Given the description of an element on the screen output the (x, y) to click on. 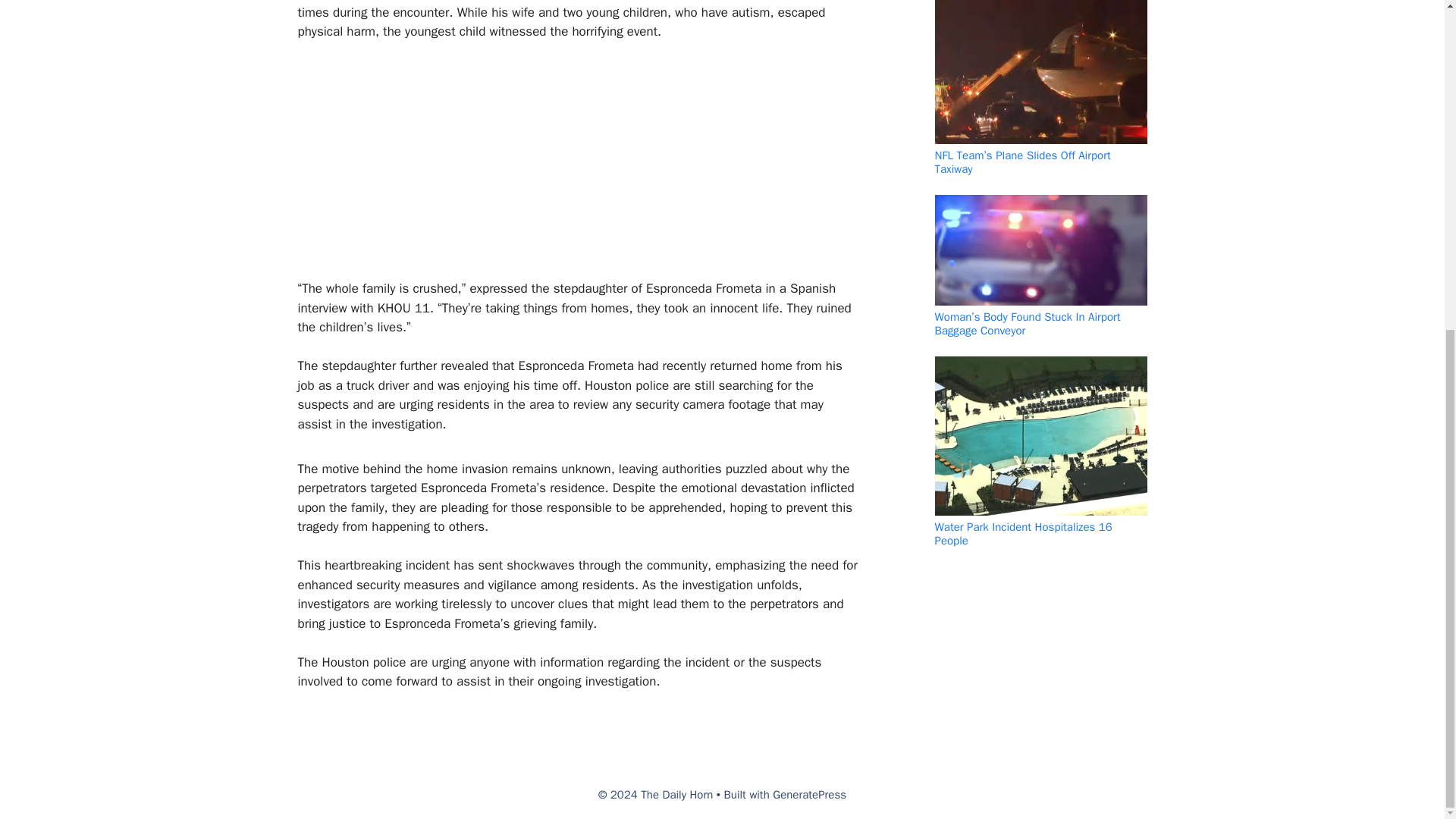
Water Park Incident Hospitalizes 16 People (1023, 533)
GeneratePress (809, 794)
Advertisement (570, 166)
